Given the description of an element on the screen output the (x, y) to click on. 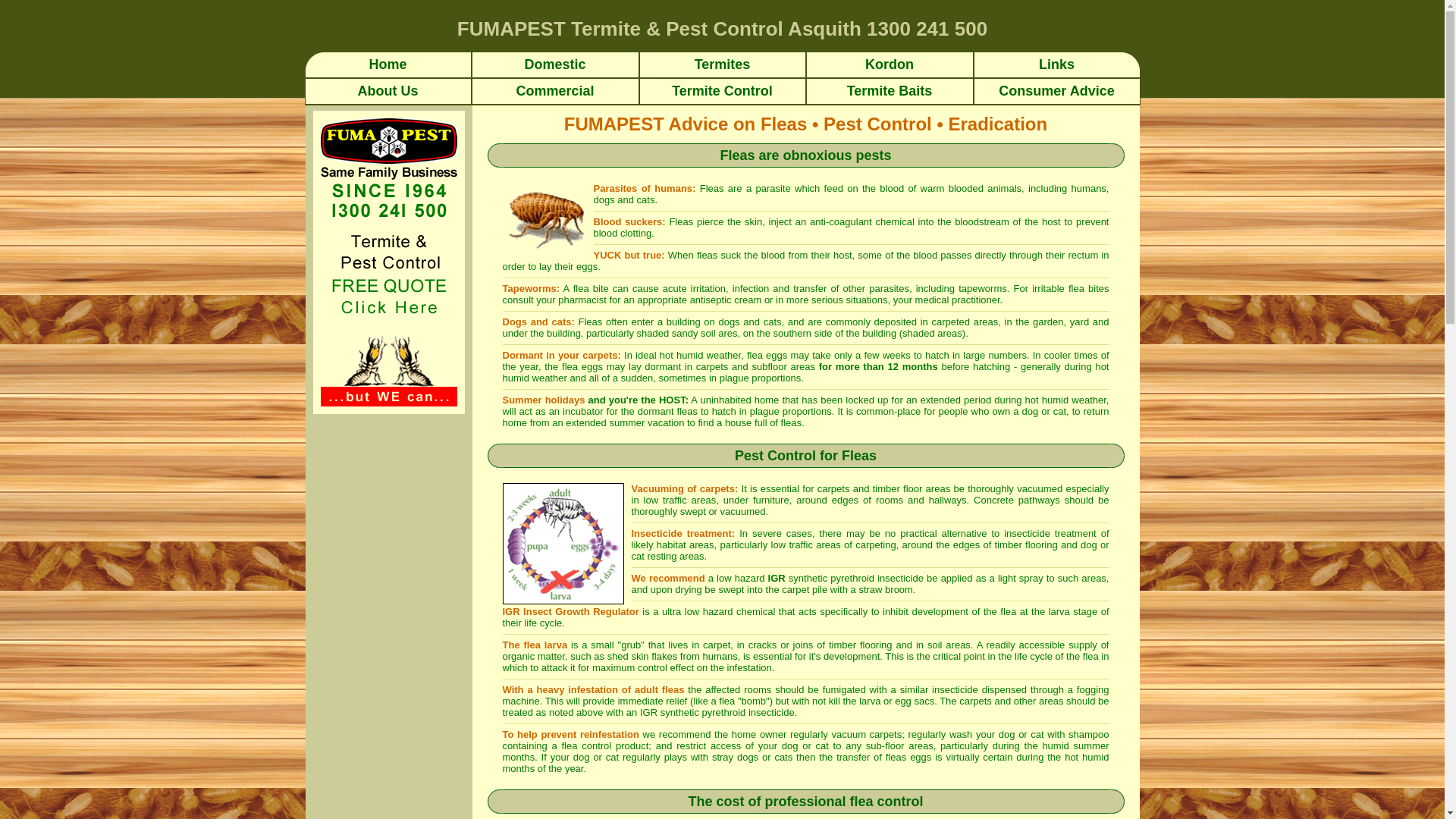
Termite Control Element type: text (721, 91)
Termite & Pest Control Asquith Element type: text (716, 27)
About Us Element type: text (387, 91)
Domestic Element type: text (554, 64)
FUMAPEST Element type: text (511, 27)
Kordon Element type: text (889, 64)
Consumer Advice Element type: text (1055, 91)
Commercial Element type: text (554, 91)
Links Element type: text (1056, 64)
Termites Element type: text (722, 64)
Termite Baits Element type: text (889, 91)
Home Element type: text (387, 64)
